Given the description of an element on the screen output the (x, y) to click on. 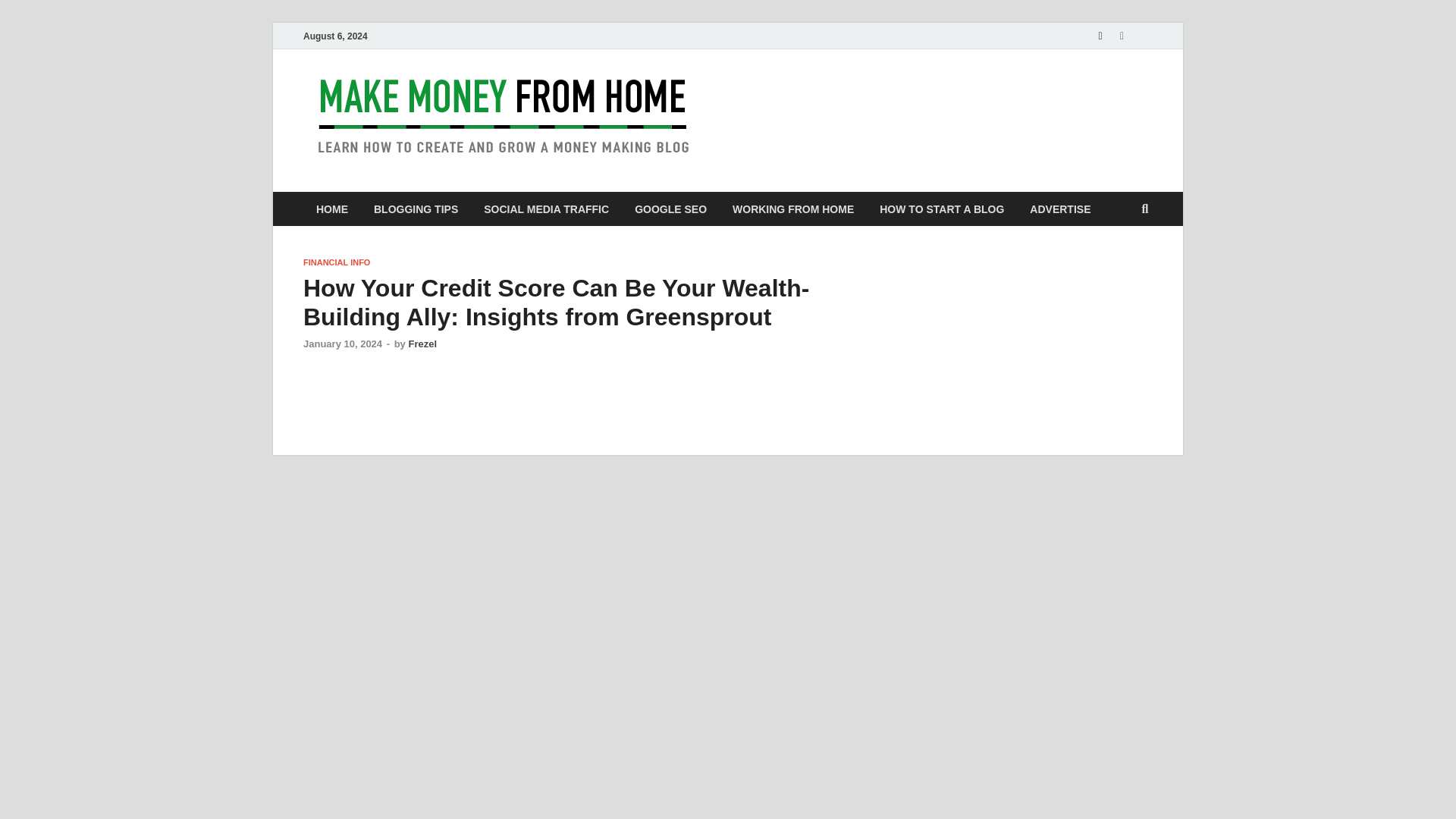
BLOGGING TIPS (415, 208)
Money Home Blog (835, 100)
FINANCIAL INFO (335, 261)
ADVERTISE (1059, 208)
January 10, 2024 (341, 343)
WORKING FROM HOME (792, 208)
HOW TO START A BLOG (941, 208)
HOME (331, 208)
Frezel (421, 343)
GOOGLE SEO (670, 208)
SOCIAL MEDIA TRAFFIC (545, 208)
